Given the description of an element on the screen output the (x, y) to click on. 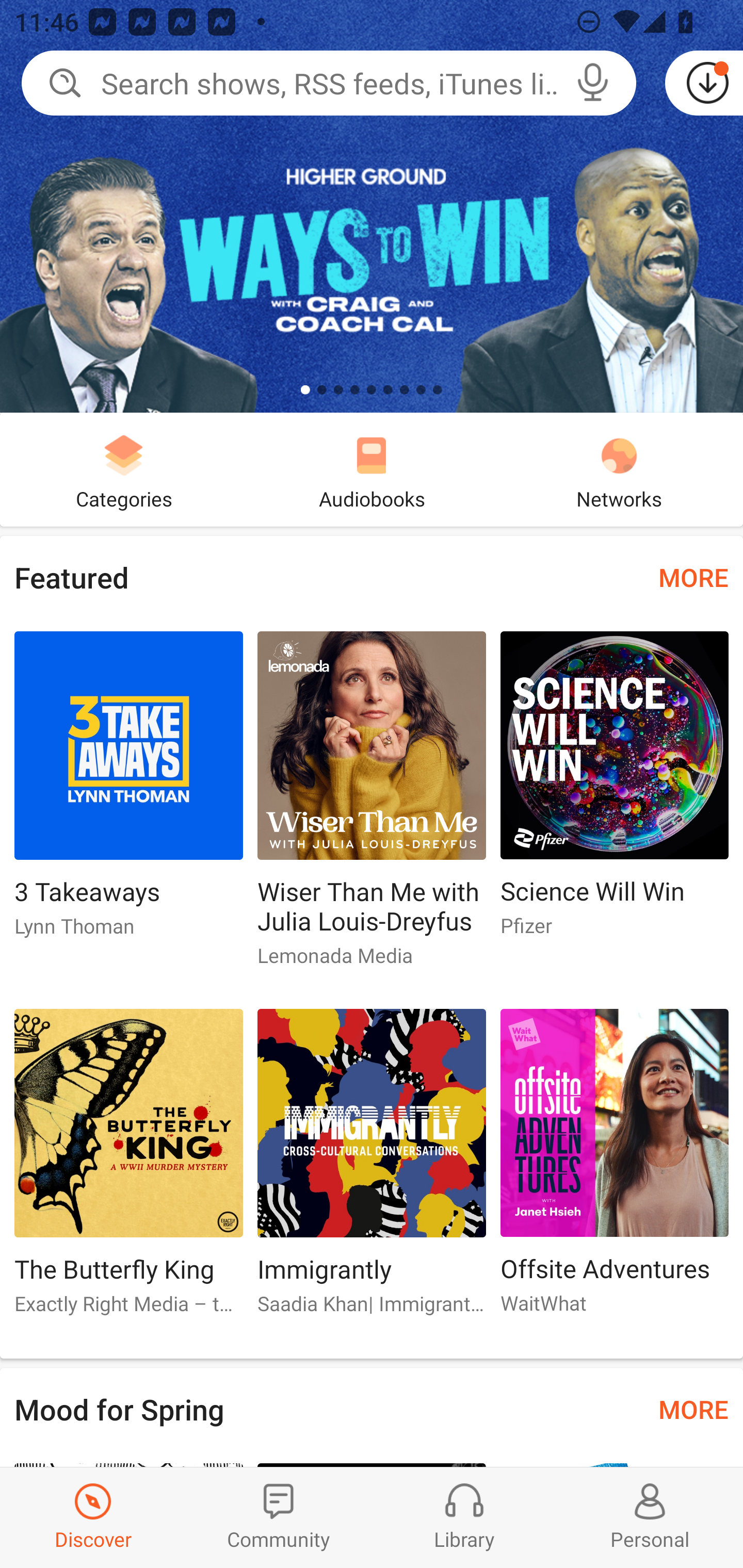
Ways To Win (371, 206)
Categories (123, 469)
Audiobooks (371, 469)
Networks (619, 469)
MORE (693, 576)
3 Takeaways 3 Takeaways Lynn Thoman (128, 792)
Science Will Win Science Will Win Pfizer (614, 792)
Offsite Adventures Offsite Adventures WaitWhat (614, 1169)
MORE (693, 1409)
Discover (92, 1517)
Community (278, 1517)
Library (464, 1517)
Profiles and Settings Personal (650, 1517)
